Given the description of an element on the screen output the (x, y) to click on. 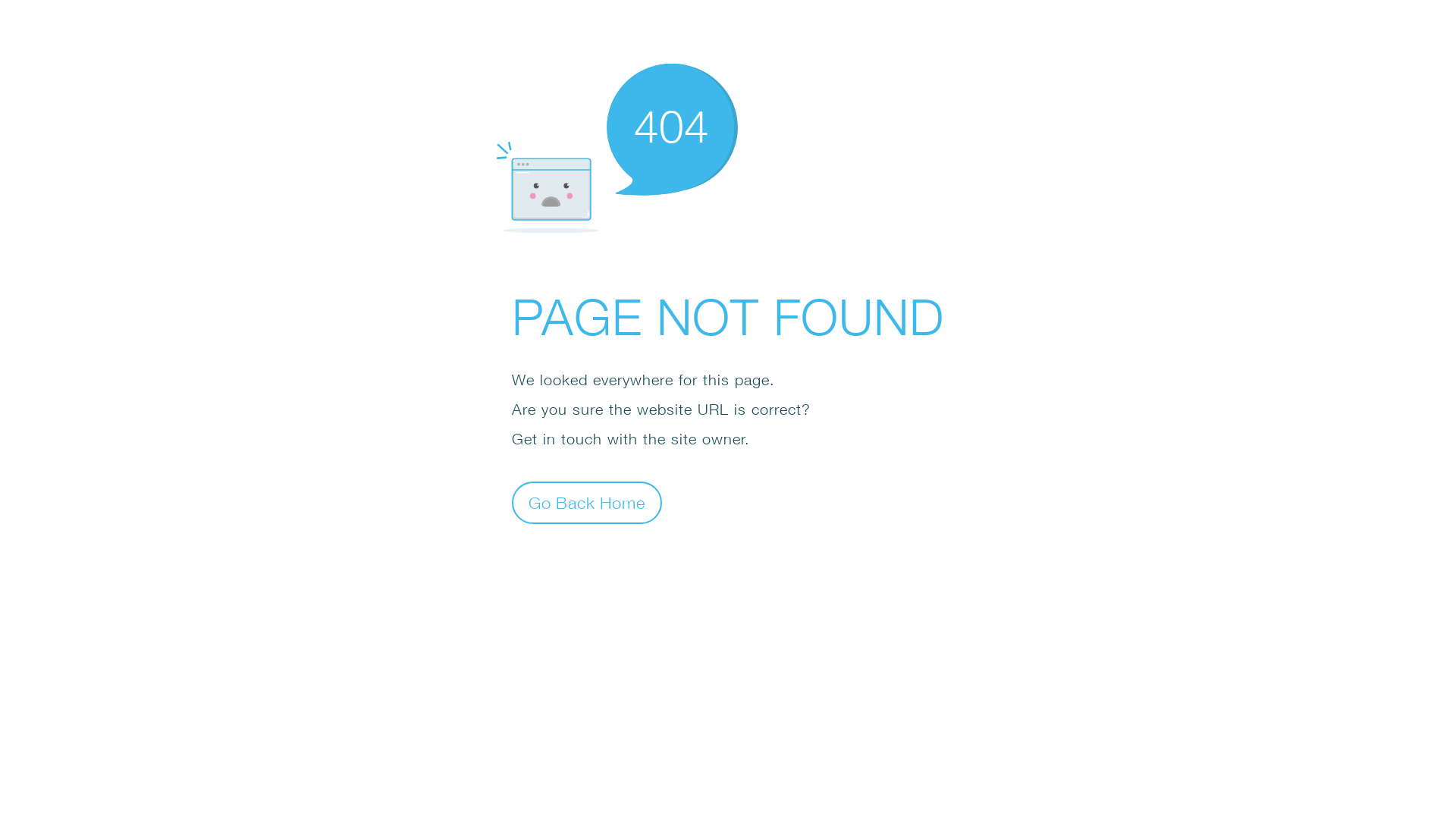
Go Back Home Element type: text (586, 502)
